Given the description of an element on the screen output the (x, y) to click on. 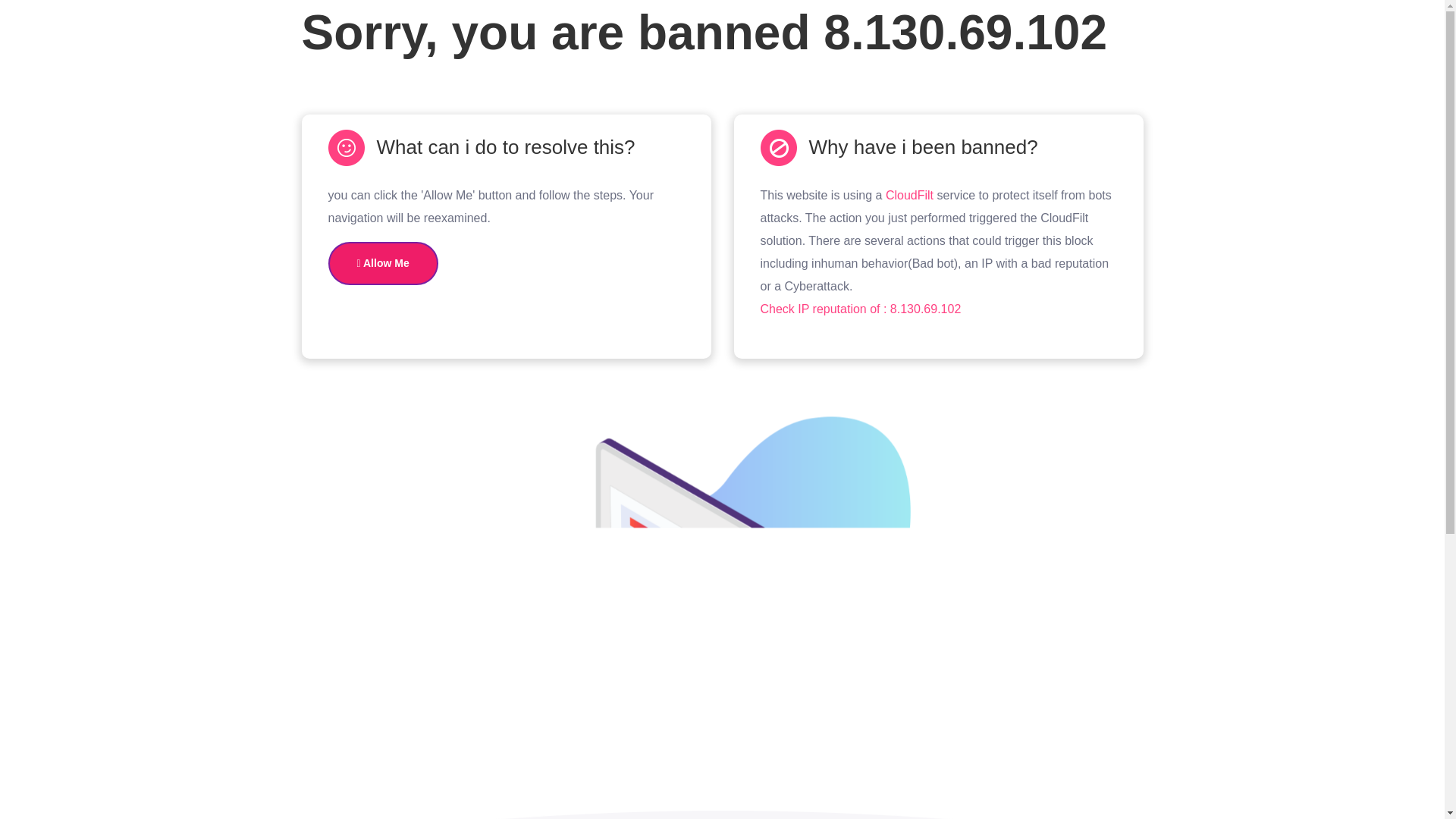
Check IP reputation of : 8.130.69.102 (860, 308)
Allow Me (382, 263)
CloudFilt (909, 195)
